Given the description of an element on the screen output the (x, y) to click on. 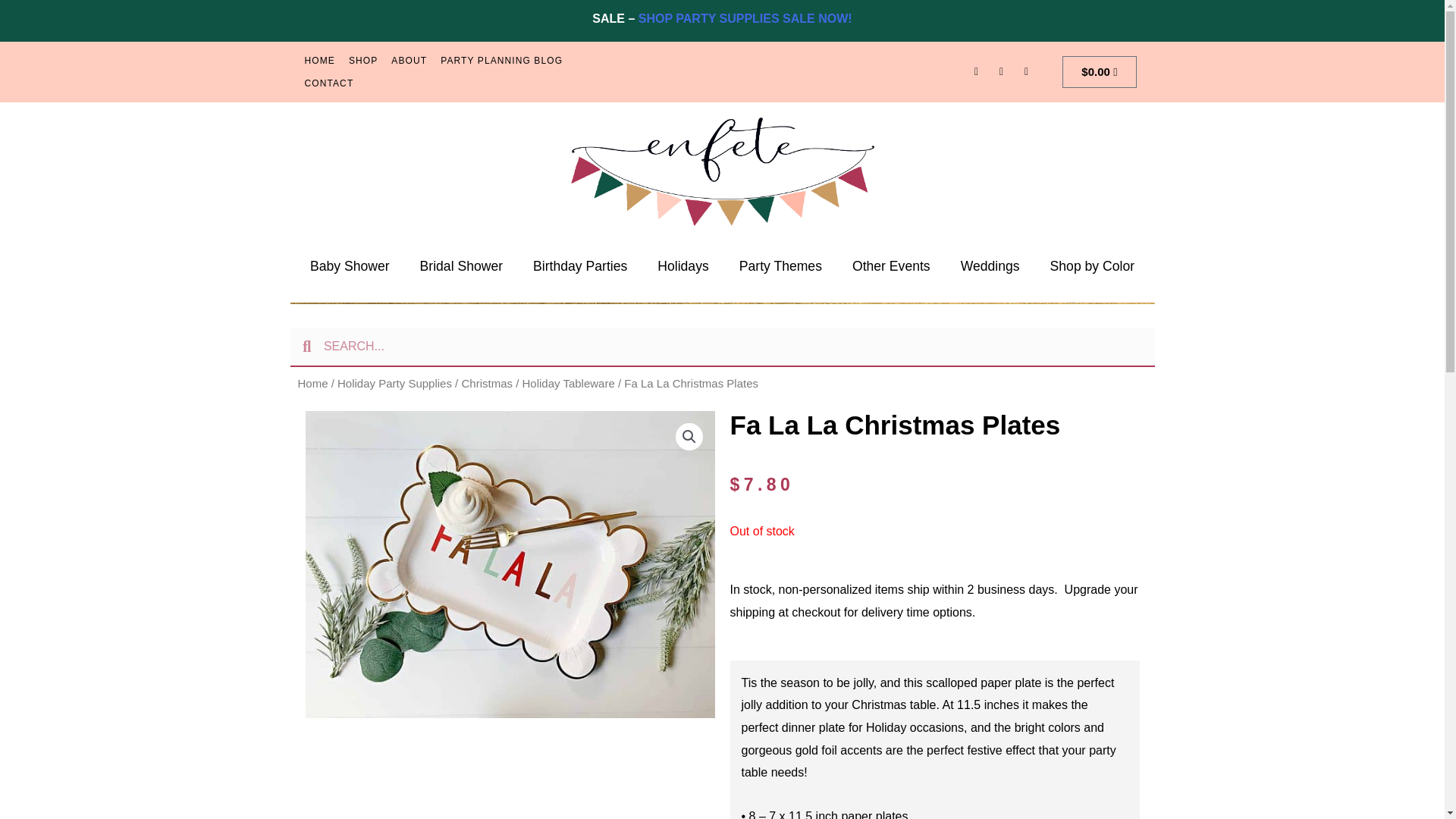
Birthday Parties (580, 265)
Weddings (989, 265)
ABOUT (408, 60)
Holidays (682, 265)
PARTY PLANNING BLOG (501, 60)
SHOP PARTY SUPPLIES SALE NOW! (745, 18)
Instagram (1001, 71)
Pinterest (1026, 71)
Other Events (890, 265)
Holiday Party Supplies (394, 382)
Bridal Shower (461, 265)
HOME (318, 60)
SHOP (363, 60)
CONTACT (328, 83)
Fa La La Christmas Plates (509, 564)
